Given the description of an element on the screen output the (x, y) to click on. 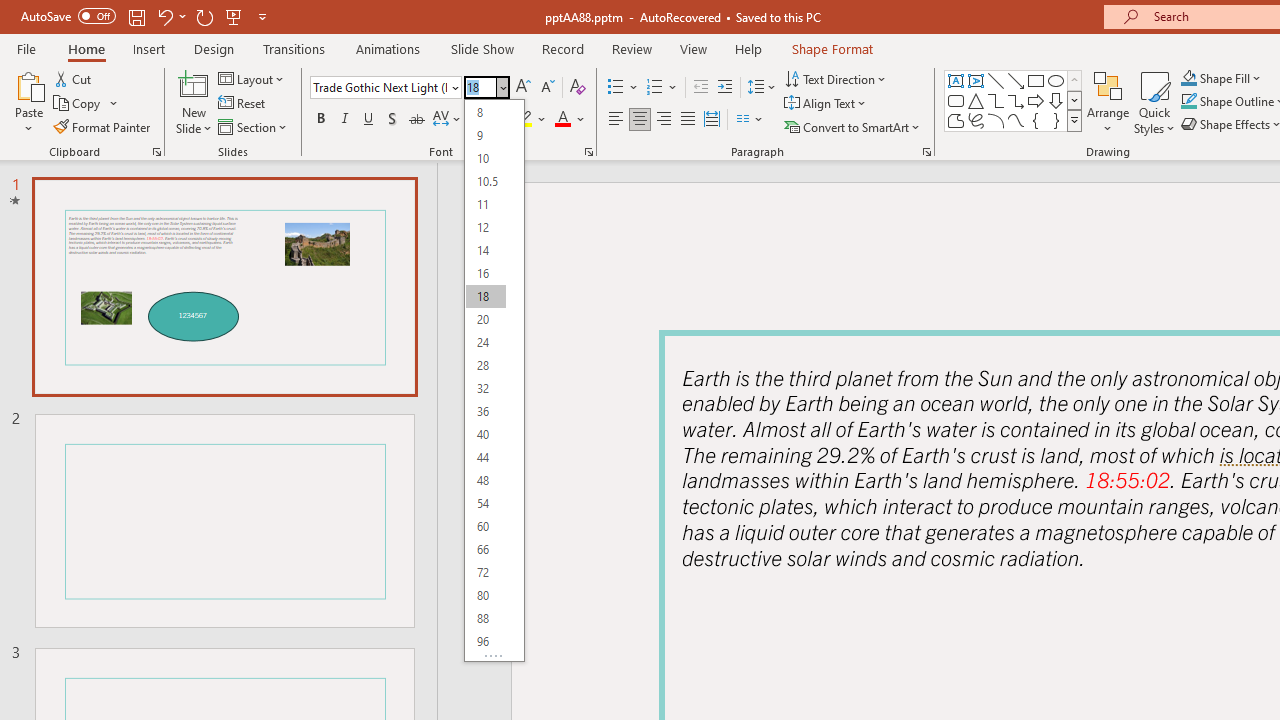
66 (485, 548)
44 (485, 456)
